Given the description of an element on the screen output the (x, y) to click on. 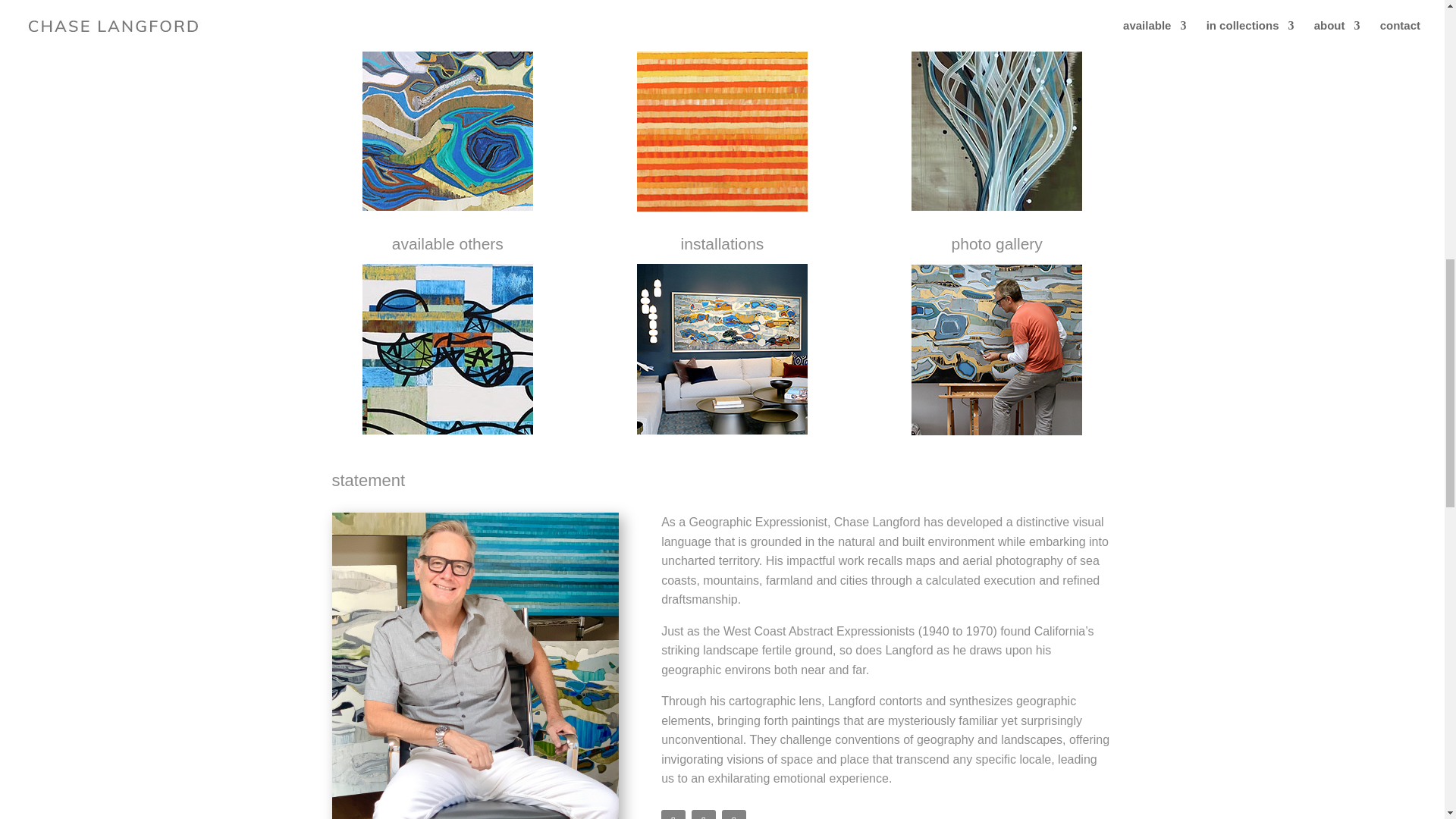
Available Others (447, 348)
Available Chroma (722, 125)
Available Coldwater (996, 125)
Follow on Facebook (673, 814)
Follow on Instagram (733, 814)
Available Morphic (447, 125)
Follow on Youtube (703, 814)
